Given the description of an element on the screen output the (x, y) to click on. 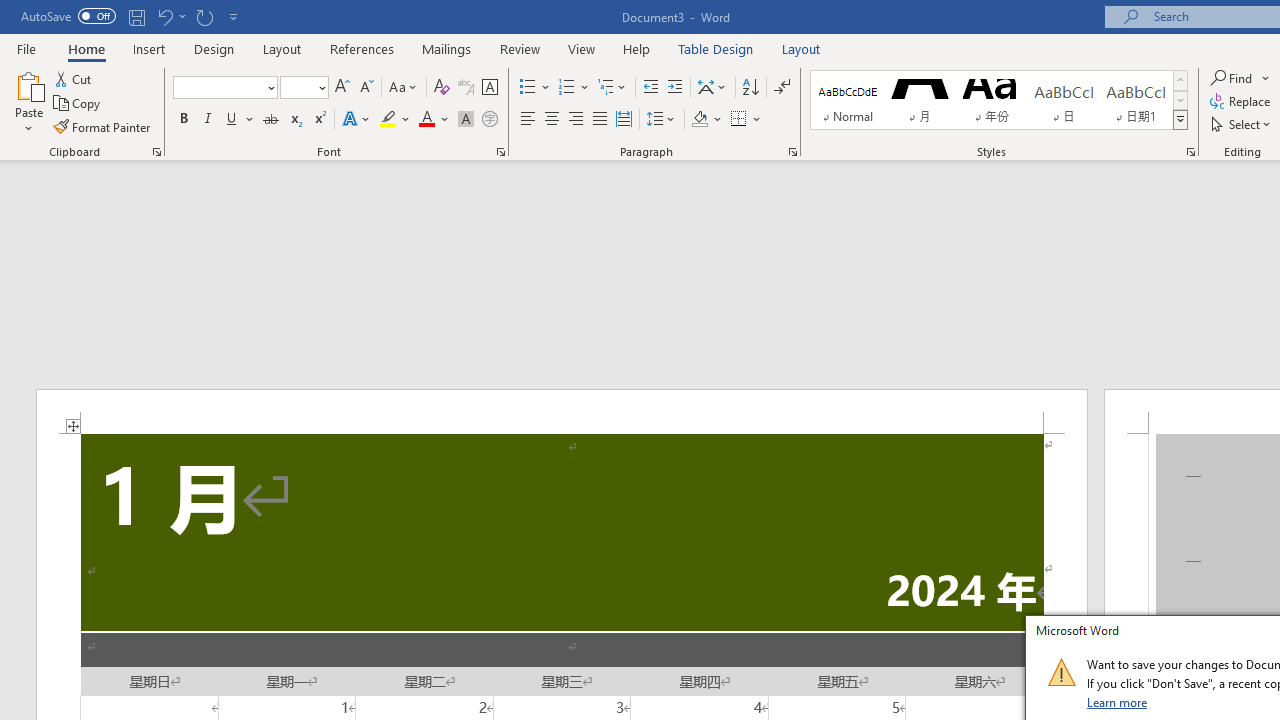
Text Highlight Color (395, 119)
Strikethrough (270, 119)
Asian Layout (712, 87)
Phonetic Guide... (465, 87)
Align Right (575, 119)
Format Painter (103, 126)
Font Color (434, 119)
Row up (1179, 79)
Show/Hide Editing Marks (781, 87)
